Given the description of an element on the screen output the (x, y) to click on. 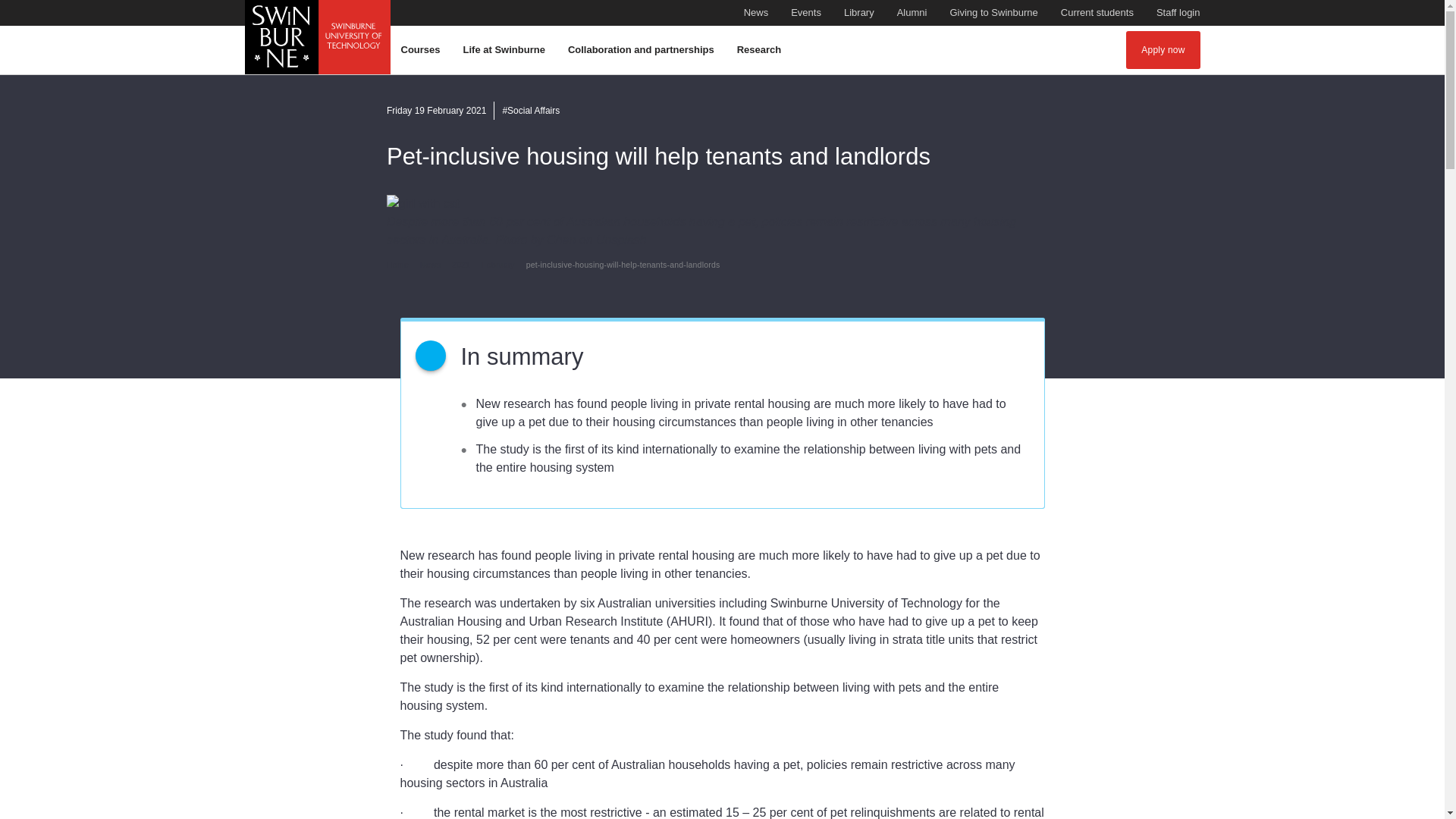
Giving to Swinburne (992, 13)
Library (422, 49)
Staff login (859, 13)
News (1177, 13)
Staff login (756, 13)
toggle Courses menu (1177, 13)
Library (422, 49)
Current students (859, 13)
News (1097, 13)
Giving to Swinburne (756, 13)
Alumni (992, 13)
Alumni (911, 13)
Events (911, 13)
Current students (805, 13)
